Given the description of an element on the screen output the (x, y) to click on. 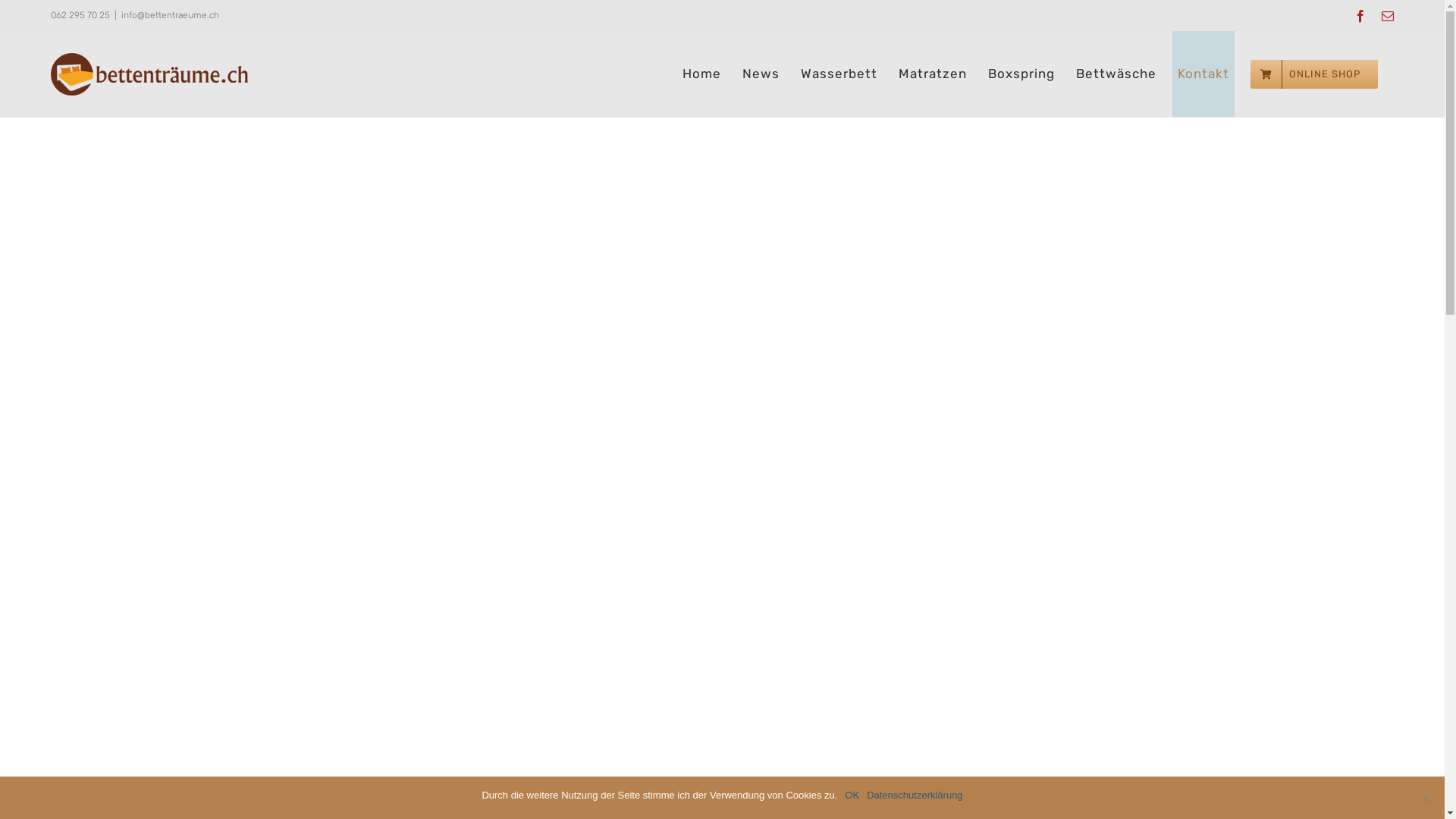
info@bettentraeume.ch Element type: text (170, 14)
Facebook Element type: text (1360, 15)
Boxspring Element type: text (1021, 73)
OK Element type: text (851, 795)
Nein Element type: hover (1425, 797)
News Element type: text (760, 73)
Kontakt Element type: text (1203, 73)
Matratzen Element type: text (932, 73)
E-Mail Element type: text (1387, 15)
ONLINE SHOP Element type: text (1314, 73)
Wasserbett Element type: text (838, 73)
Home Element type: text (701, 73)
